Given the description of an element on the screen output the (x, y) to click on. 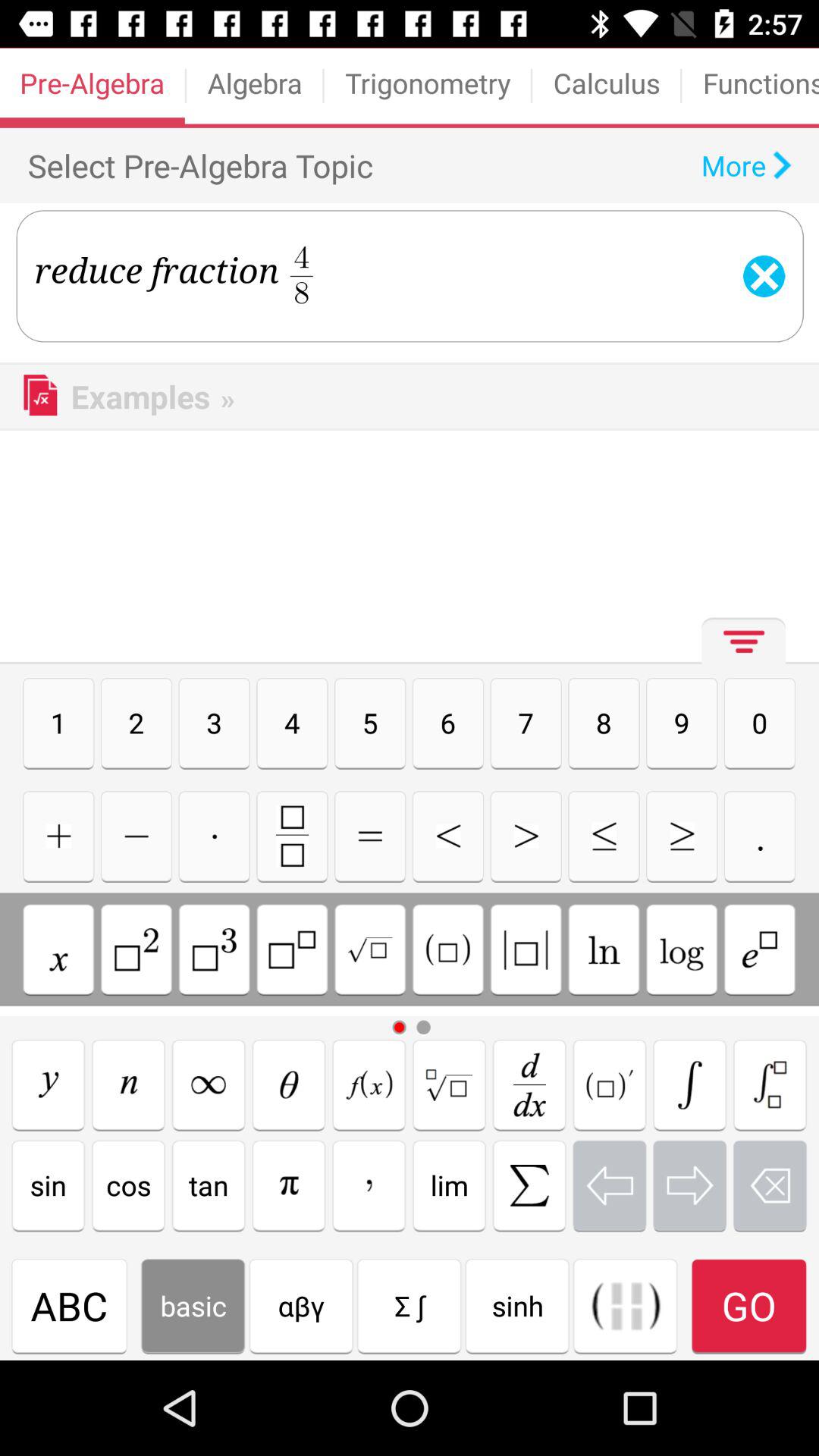
increase the button (526, 835)
